Given the description of an element on the screen output the (x, y) to click on. 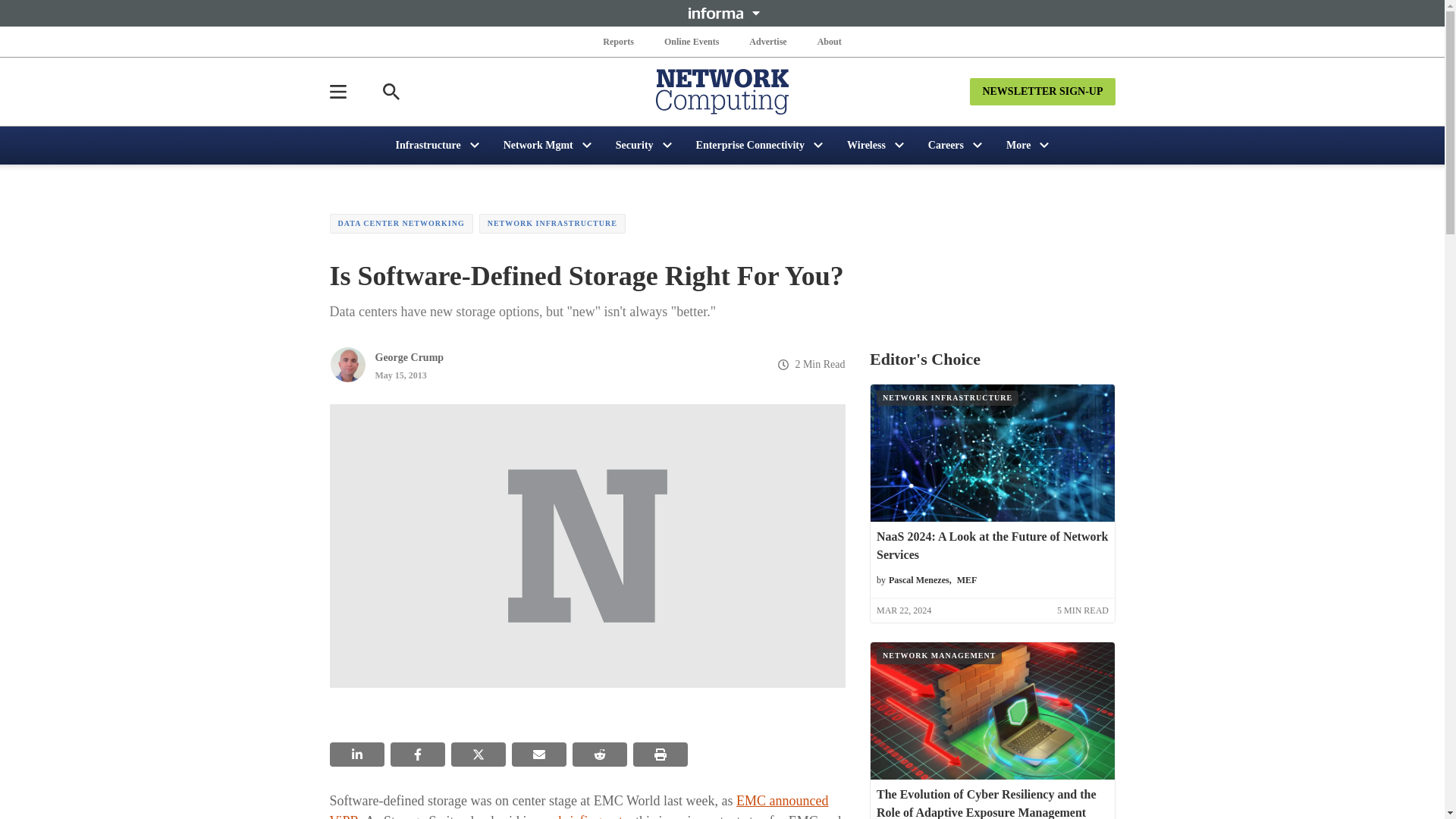
Picture of George Crump (347, 364)
Network Computing Logo (722, 91)
NEWSLETTER SIGN-UP (1042, 90)
Online Events (691, 41)
About (828, 41)
Reports (618, 41)
Advertise (767, 41)
